Given the description of an element on the screen output the (x, y) to click on. 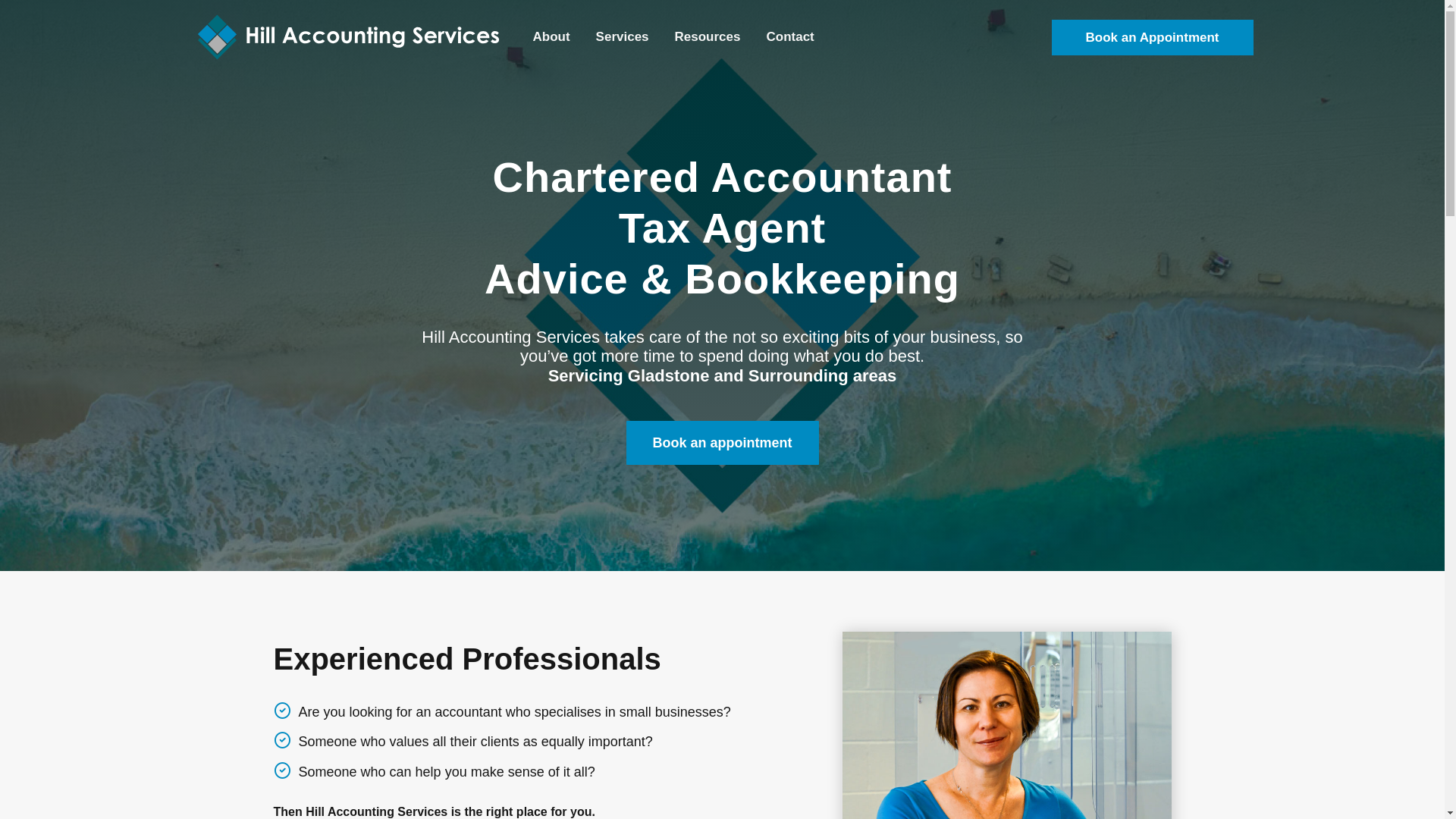
Services Element type: text (622, 36)
Resources Element type: text (707, 36)
About Element type: text (551, 36)
Book an appointment Element type: text (722, 442)
Contact Element type: text (789, 36)
Book an Appointment Element type: text (1152, 37)
